Given the description of an element on the screen output the (x, y) to click on. 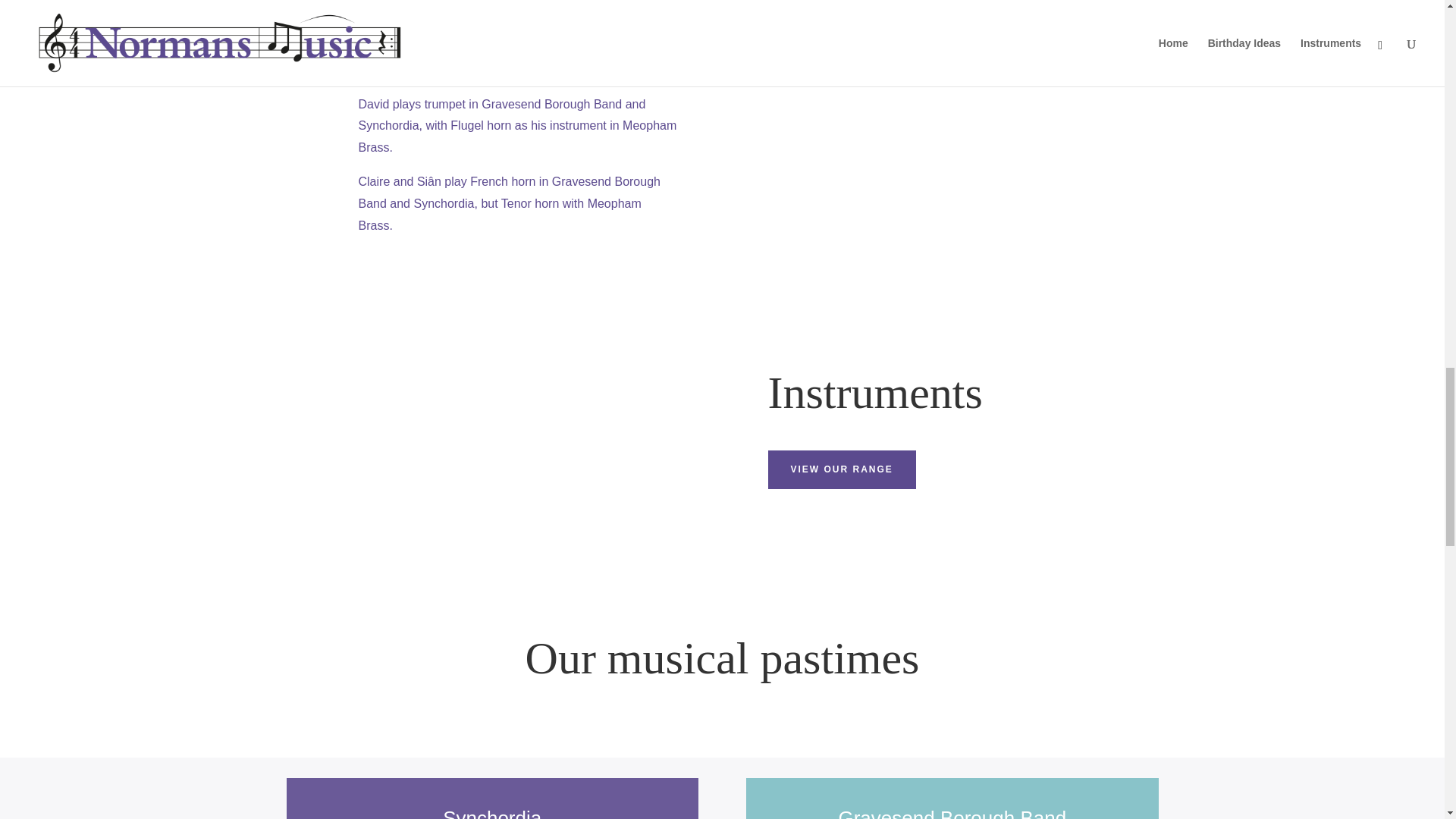
VIEW OUR RANGE (841, 469)
